Given the description of an element on the screen output the (x, y) to click on. 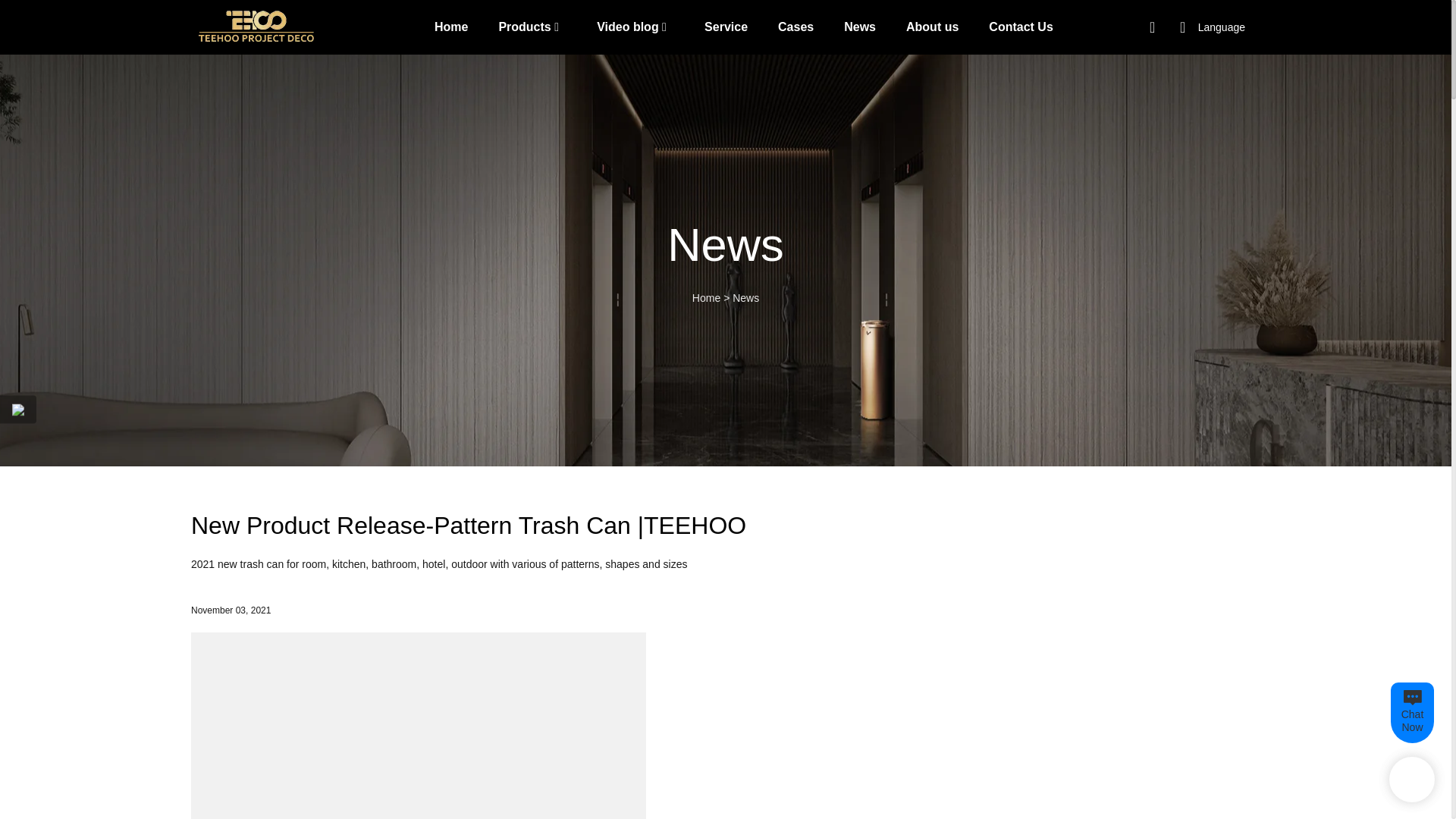
About us (931, 26)
Video blog (627, 26)
Products (523, 26)
News (745, 297)
Cases (795, 26)
Contact Us (1020, 26)
Home (706, 297)
Service (726, 26)
News (860, 26)
Home (450, 26)
